Given the description of an element on the screen output the (x, y) to click on. 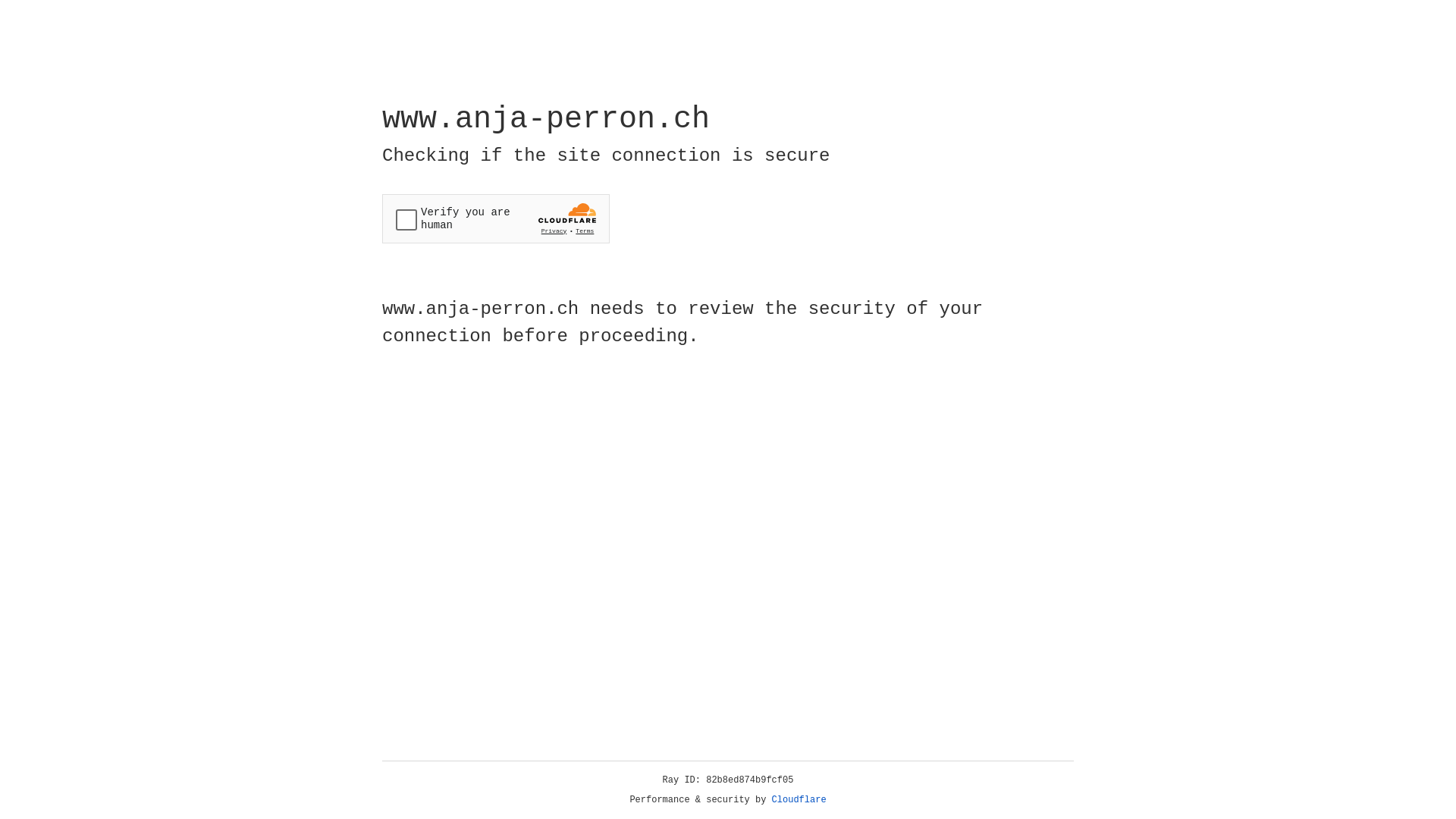
Widget containing a Cloudflare security challenge Element type: hover (495, 218)
Cloudflare Element type: text (798, 799)
